Given the description of an element on the screen output the (x, y) to click on. 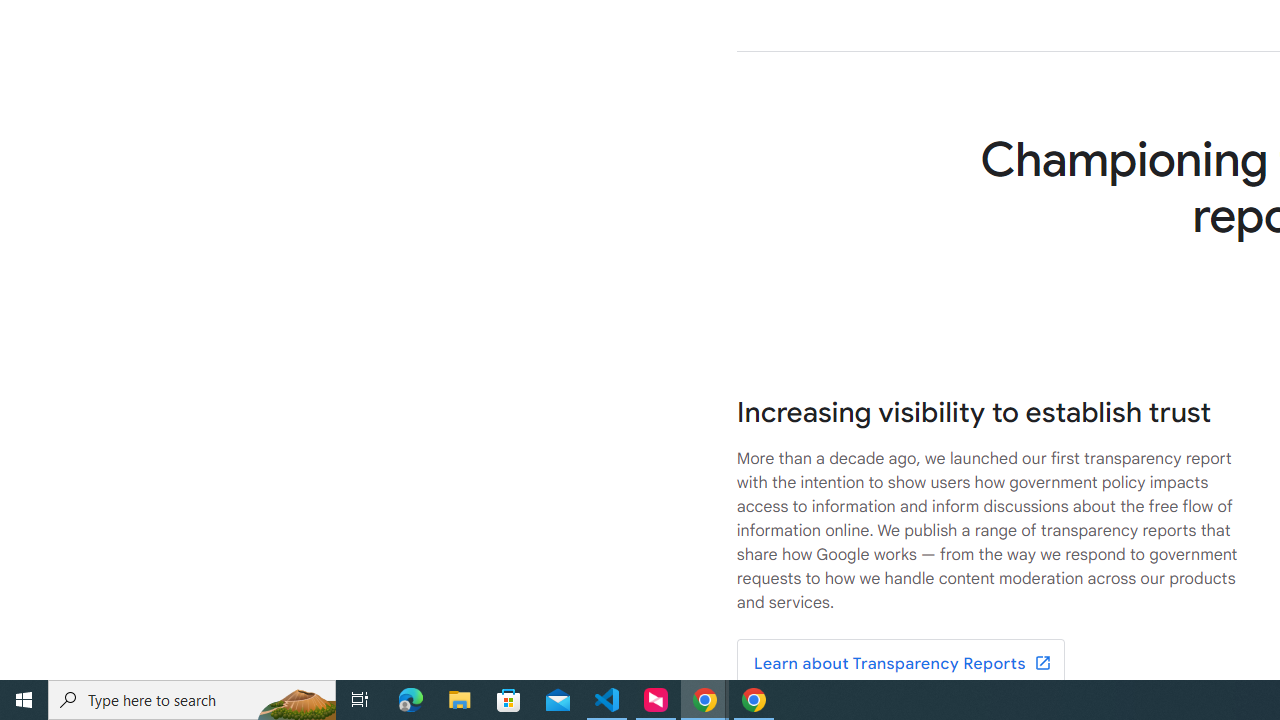
Go to Transparency Report About web page (900, 664)
